Given the description of an element on the screen output the (x, y) to click on. 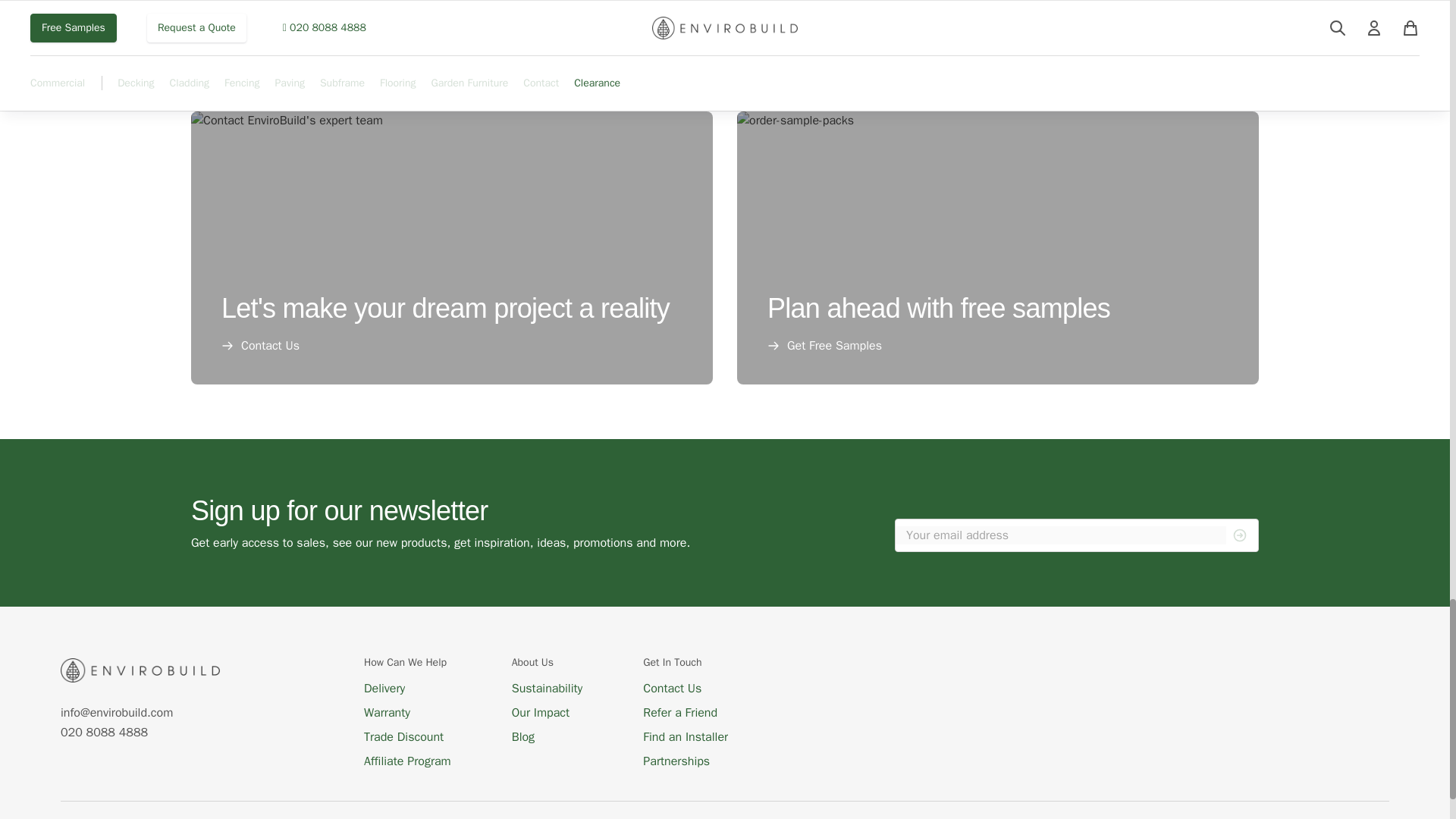
More Case Studies (724, 28)
